Given the description of an element on the screen output the (x, y) to click on. 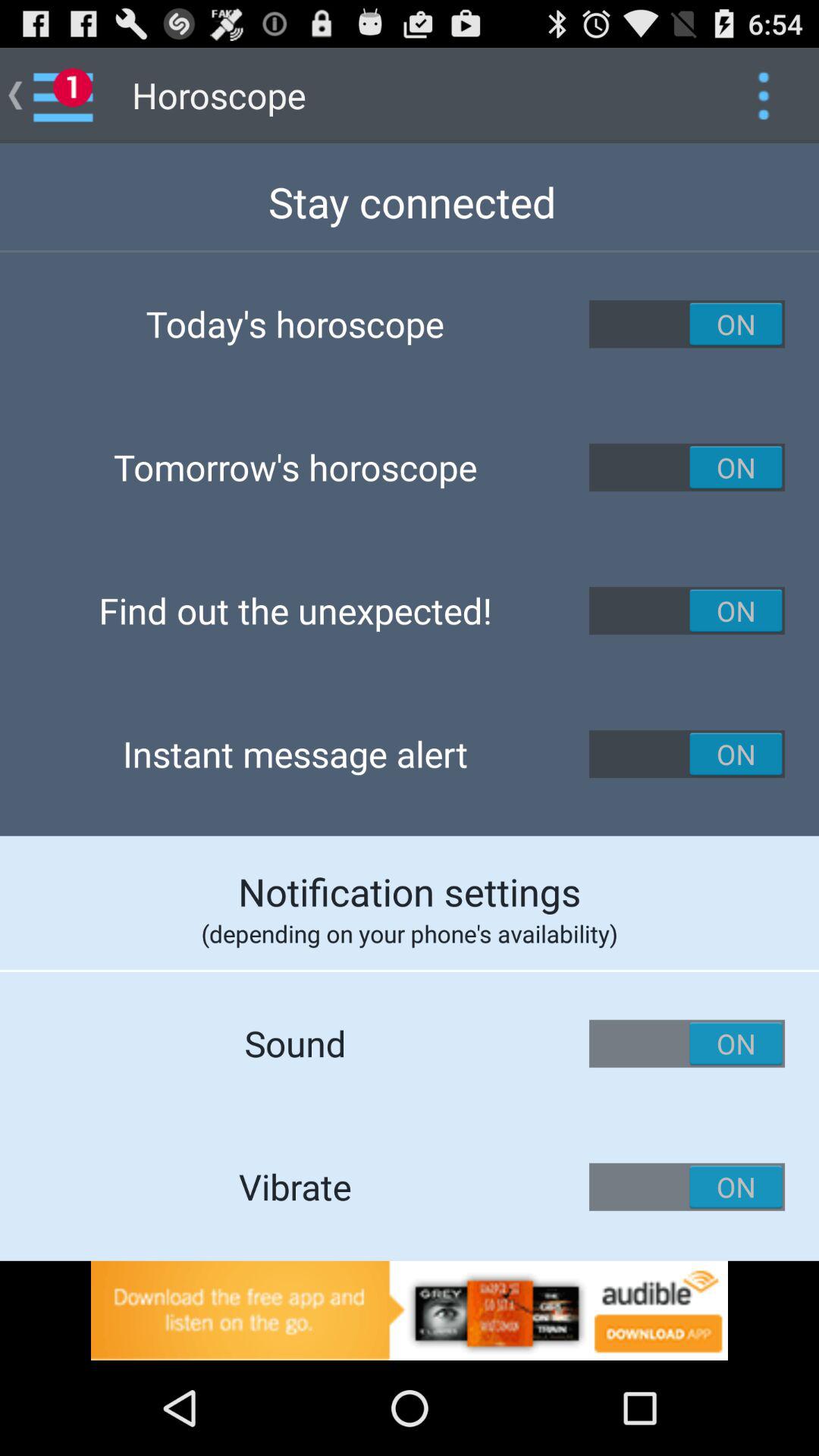
vibrate toggle (686, 1186)
